Given the description of an element on the screen output the (x, y) to click on. 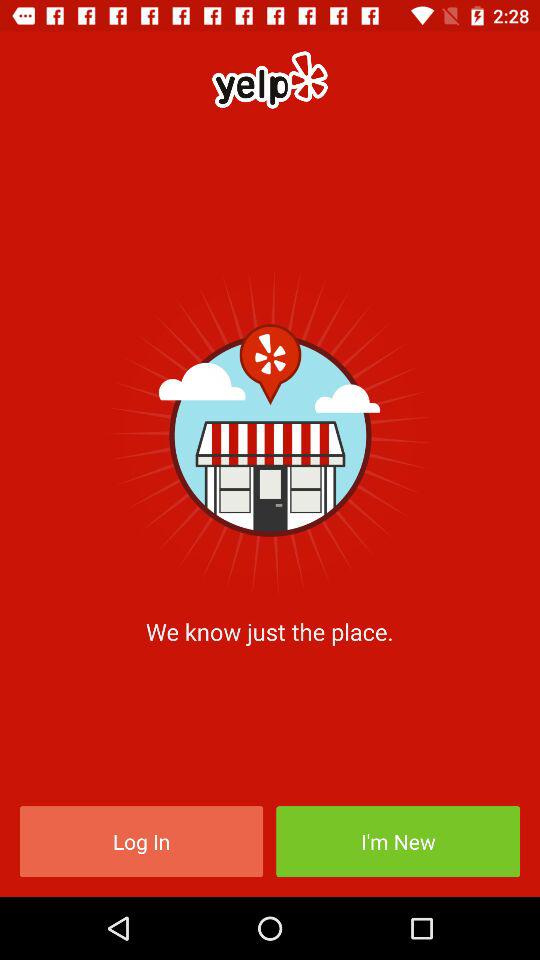
choose the item to the right of the log in item (398, 841)
